Given the description of an element on the screen output the (x, y) to click on. 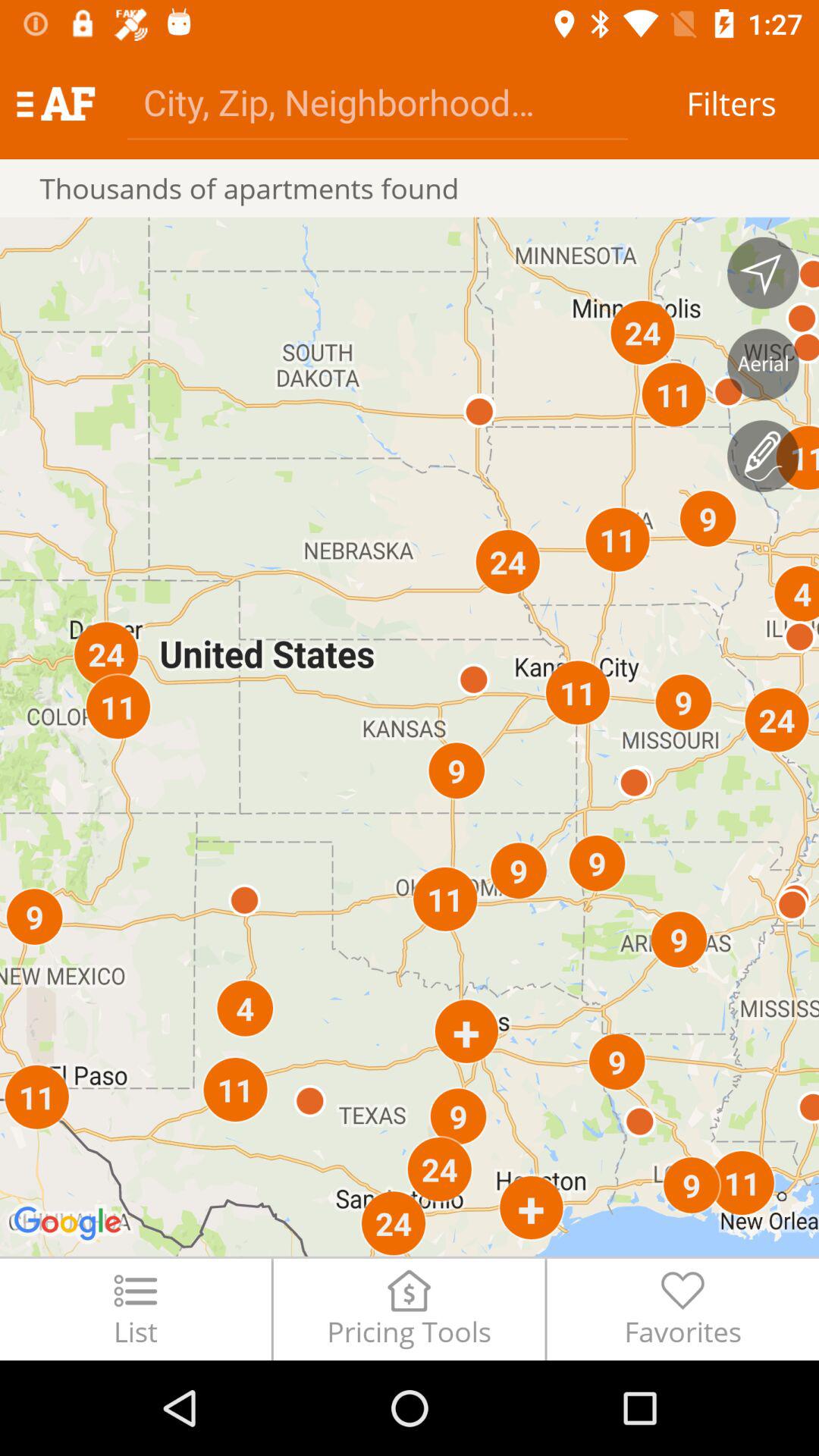
tap item to the right of pricing tools (683, 1309)
